Given the description of an element on the screen output the (x, y) to click on. 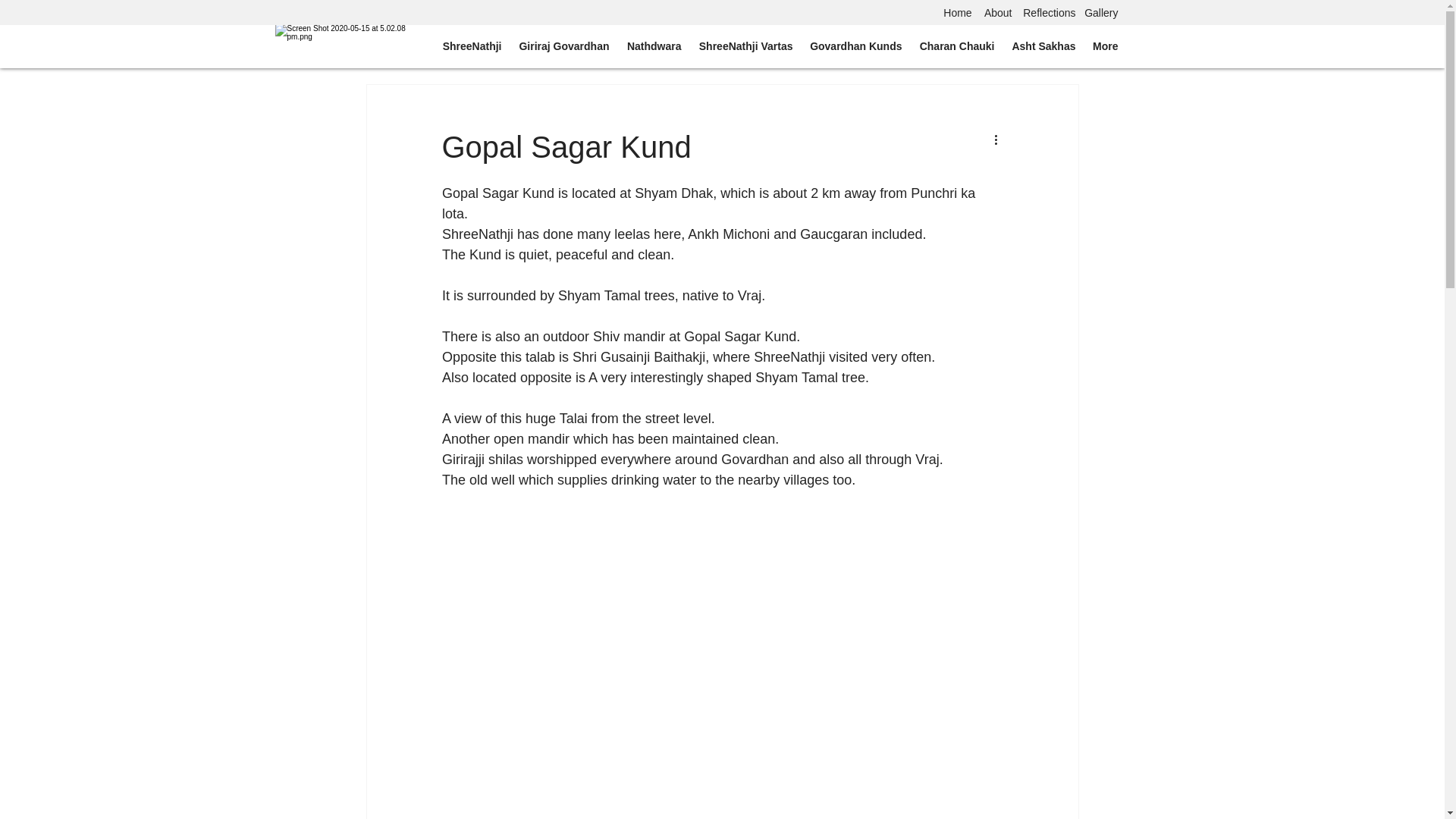
Reflections (1049, 12)
Nathdwara (652, 45)
About (997, 12)
ShreeNathji Vartas (743, 45)
Asht Sakhas (1043, 45)
Charan Chauki (956, 45)
Giriraj Govardhan (563, 45)
Govardhan Kunds (855, 45)
Gallery (1101, 12)
ShreeNathji (470, 45)
